Given the description of an element on the screen output the (x, y) to click on. 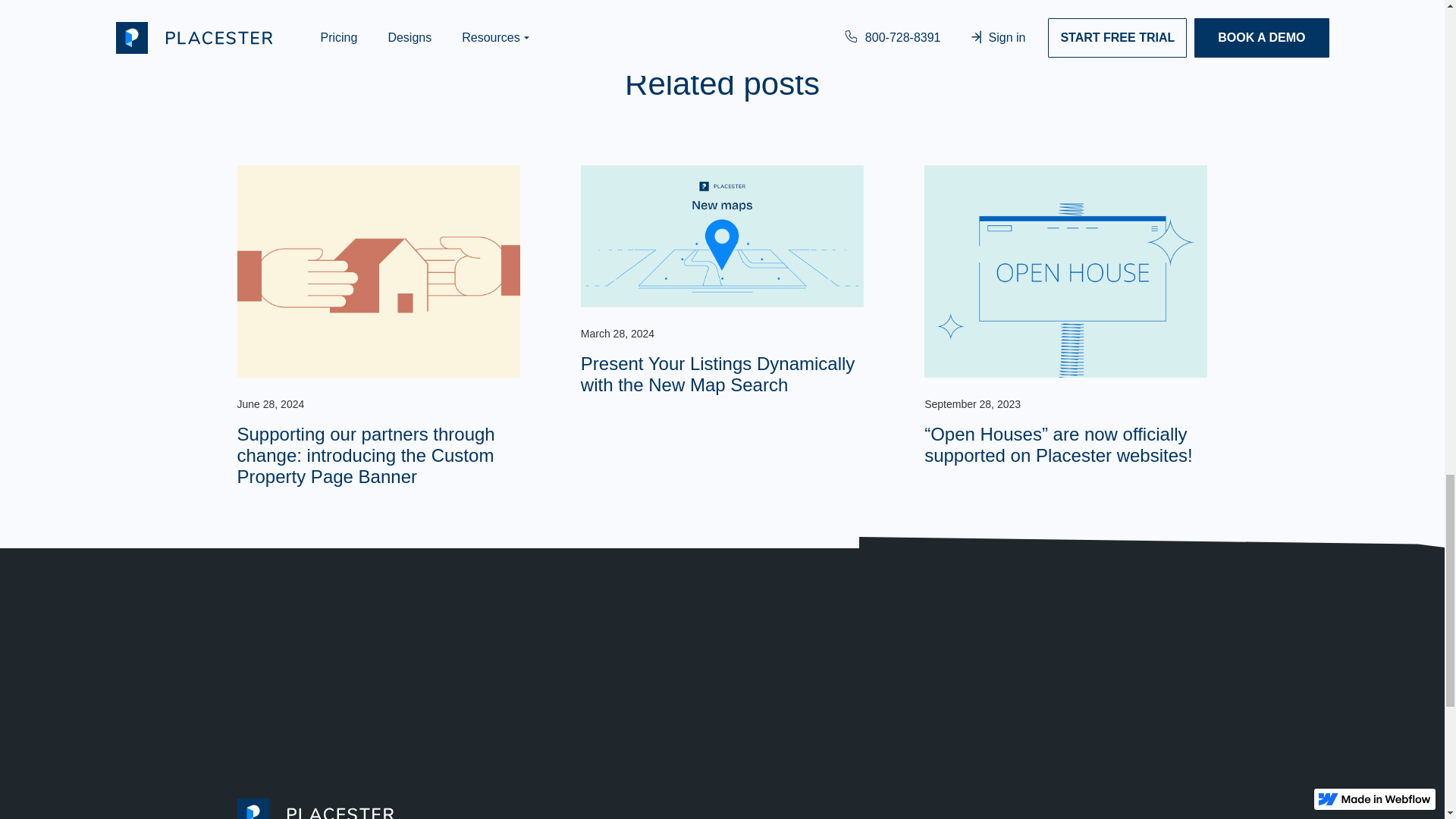
Present Your Listings Dynamically with the New Map Search (721, 368)
